Given the description of an element on the screen output the (x, y) to click on. 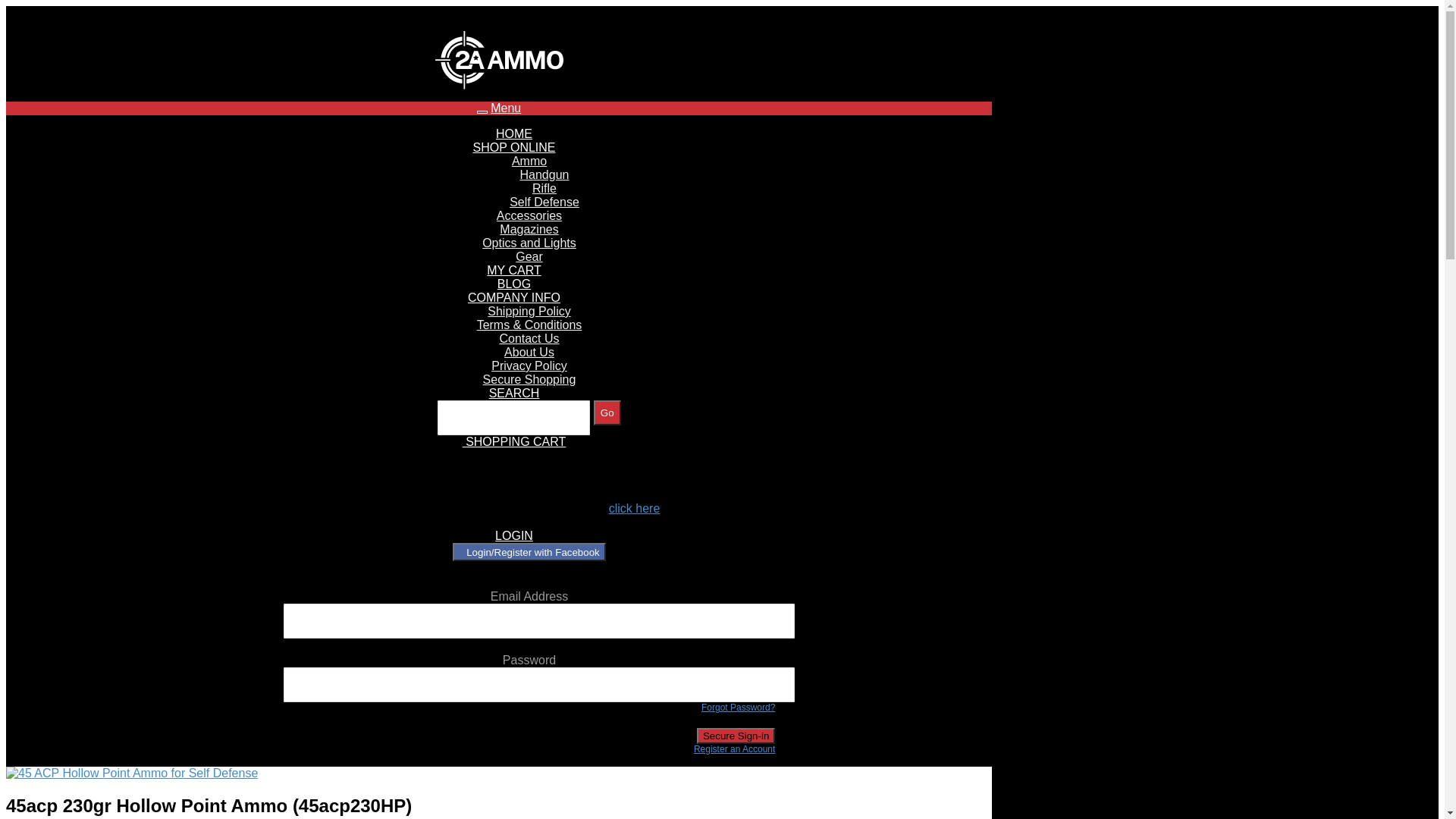
Self Defense Element type: text (544, 201)
Rifle Element type: text (544, 188)
COMPANY INFO Element type: text (513, 297)
click here Element type: text (634, 508)
Menu Element type: text (505, 107)
Magazines Element type: text (528, 228)
Secure Shopping Element type: text (529, 379)
Shipping Policy Element type: text (528, 310)
SEARCH Element type: text (514, 392)
Contact Us Element type: text (528, 338)
MY CART Element type: text (513, 269)
Optics and Lights Element type: text (529, 242)
Register an Account Element type: text (734, 748)
About Us Element type: text (529, 351)
Go Element type: text (607, 412)
Login/Register with Facebook Element type: text (528, 551)
BLOG Element type: text (513, 283)
Secure Sign-in Element type: text (735, 735)
Accessories Element type: text (528, 215)
SHOP ONLINE Element type: text (513, 147)
HOME Element type: text (513, 133)
Terms & Conditions Element type: text (529, 324)
Handgun Element type: text (544, 174)
Privacy Policy Element type: text (529, 365)
LOGIN Element type: text (514, 535)
Ammo Element type: text (528, 160)
Gear Element type: text (528, 256)
SHOPPING CART Element type: text (514, 441)
Forgot Password? Element type: text (738, 707)
